Given the description of an element on the screen output the (x, y) to click on. 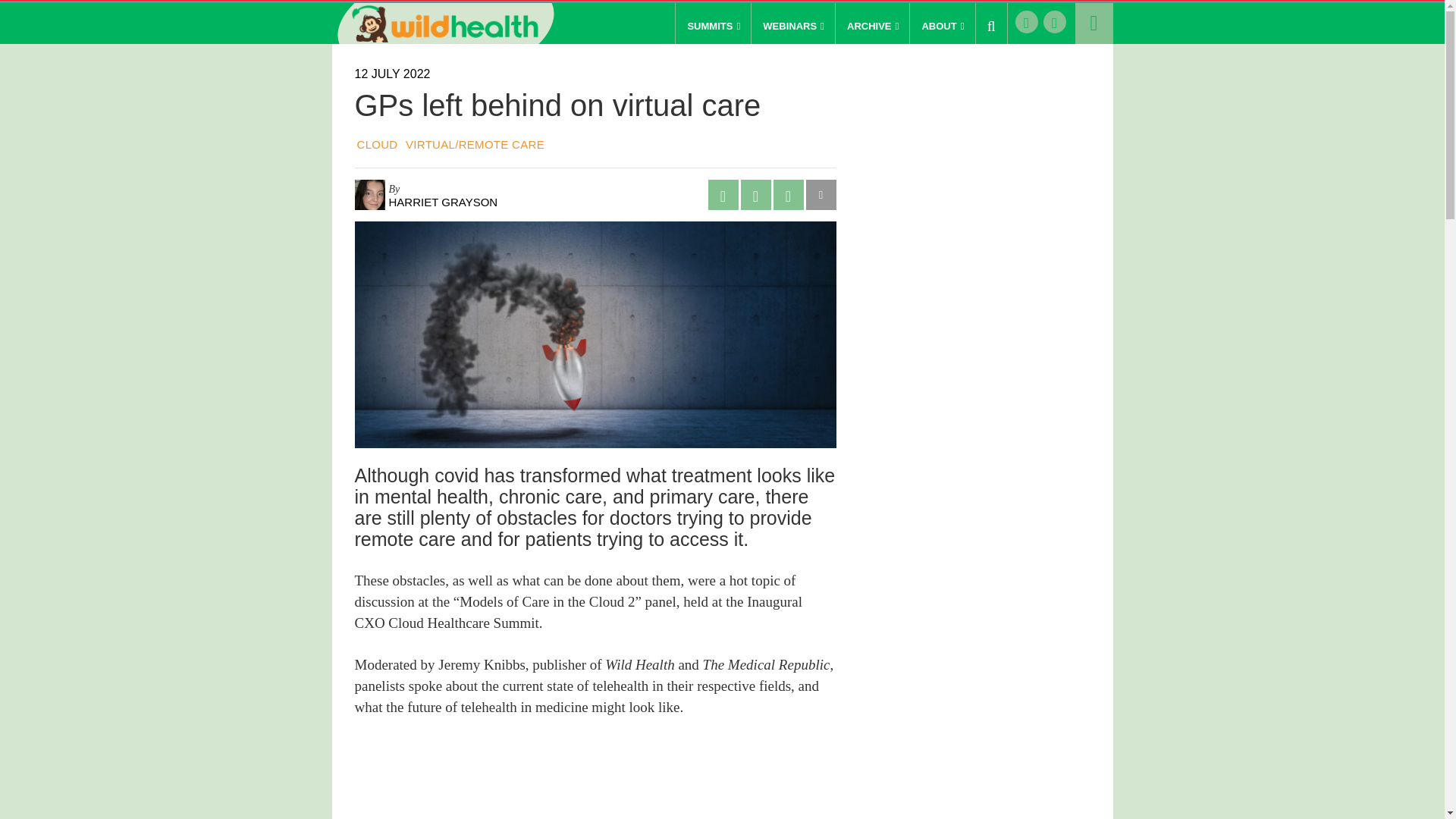
ARCHIVE (871, 25)
Connect with Us (1054, 21)
ABOUT (940, 25)
About (940, 25)
WEBINARS (791, 25)
SUMMITS (711, 25)
Wild Health Summits (445, 23)
print (788, 194)
facebook (722, 194)
Login menu (1094, 23)
twitter (754, 194)
Like Us (1025, 21)
